Given the description of an element on the screen output the (x, y) to click on. 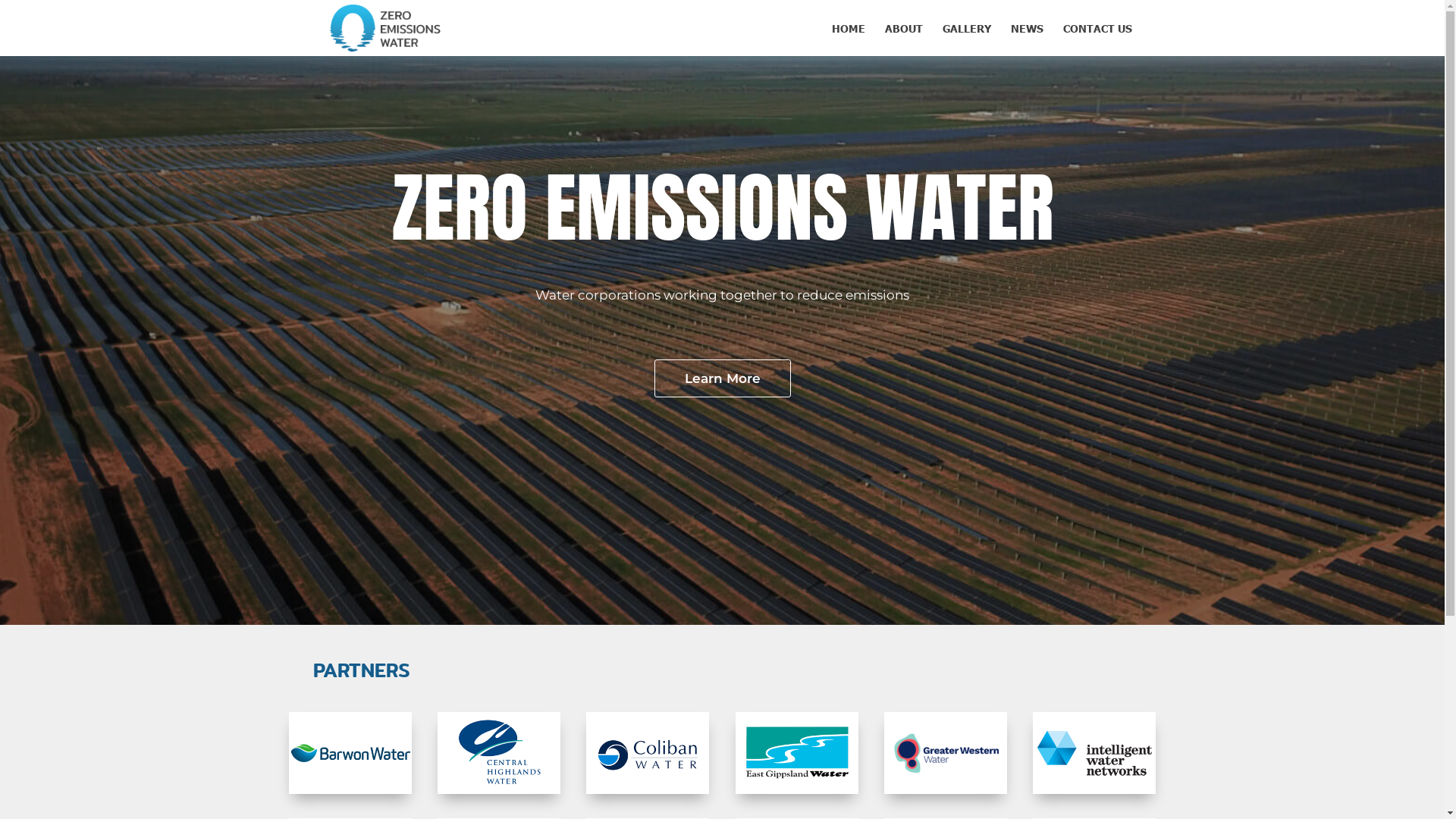
ABOUT Element type: text (903, 39)
HOME Element type: text (847, 39)
CONTACT US Element type: text (1097, 39)
GALLERY Element type: text (965, 39)
greater western water logo Element type: hover (945, 752)
NEWS Element type: text (1026, 39)
Learn More Element type: text (721, 378)
